Given the description of an element on the screen output the (x, y) to click on. 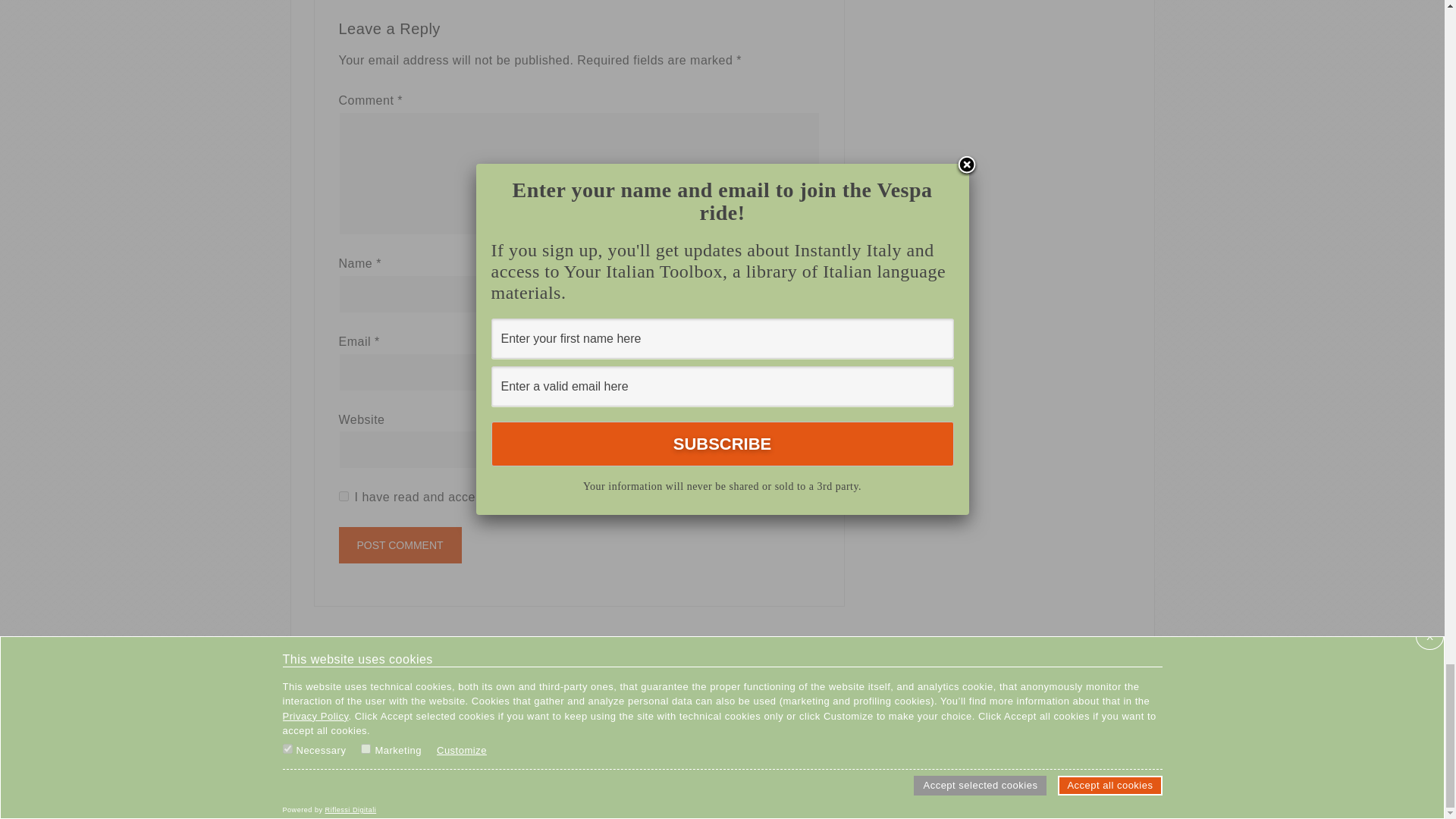
WordPress (966, 739)
Learn how your comment data is processed (666, 646)
Genesis framework by StudioPress (1041, 739)
Privacy Policy (566, 496)
Post Comment (399, 545)
Francesca Marano (818, 739)
Post Comment (399, 545)
0 (342, 496)
